Given the description of an element on the screen output the (x, y) to click on. 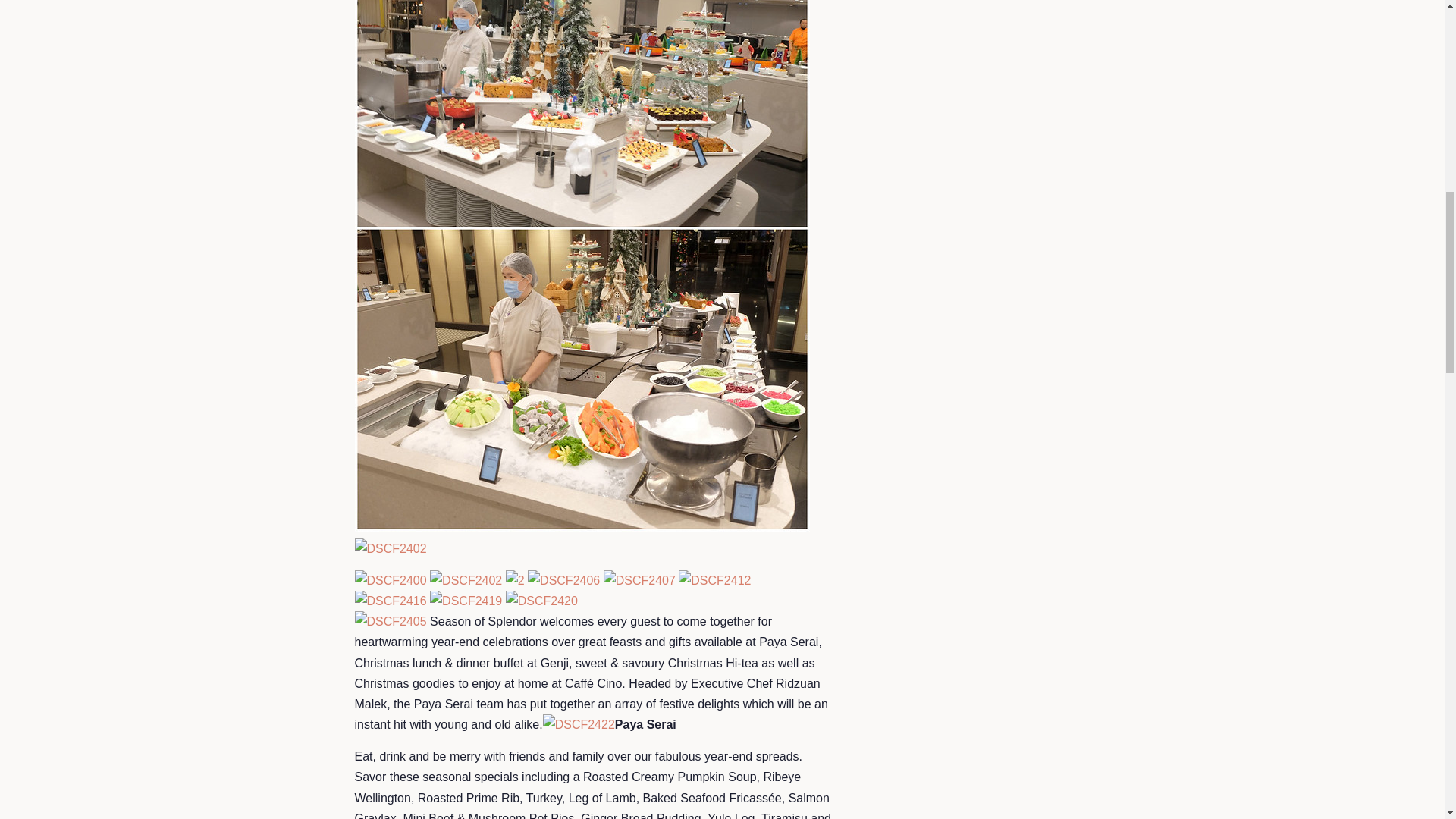
DSCF2412 (714, 580)
DSCF2416 (390, 600)
DSCF2402 (390, 548)
DSCF2407 (639, 580)
DSCF2402 (465, 580)
DSCF2406 (563, 580)
DSCF2419 (465, 600)
DSCF2420 (541, 600)
3 (582, 526)
DSCF2422 (578, 724)
